Given the description of an element on the screen output the (x, y) to click on. 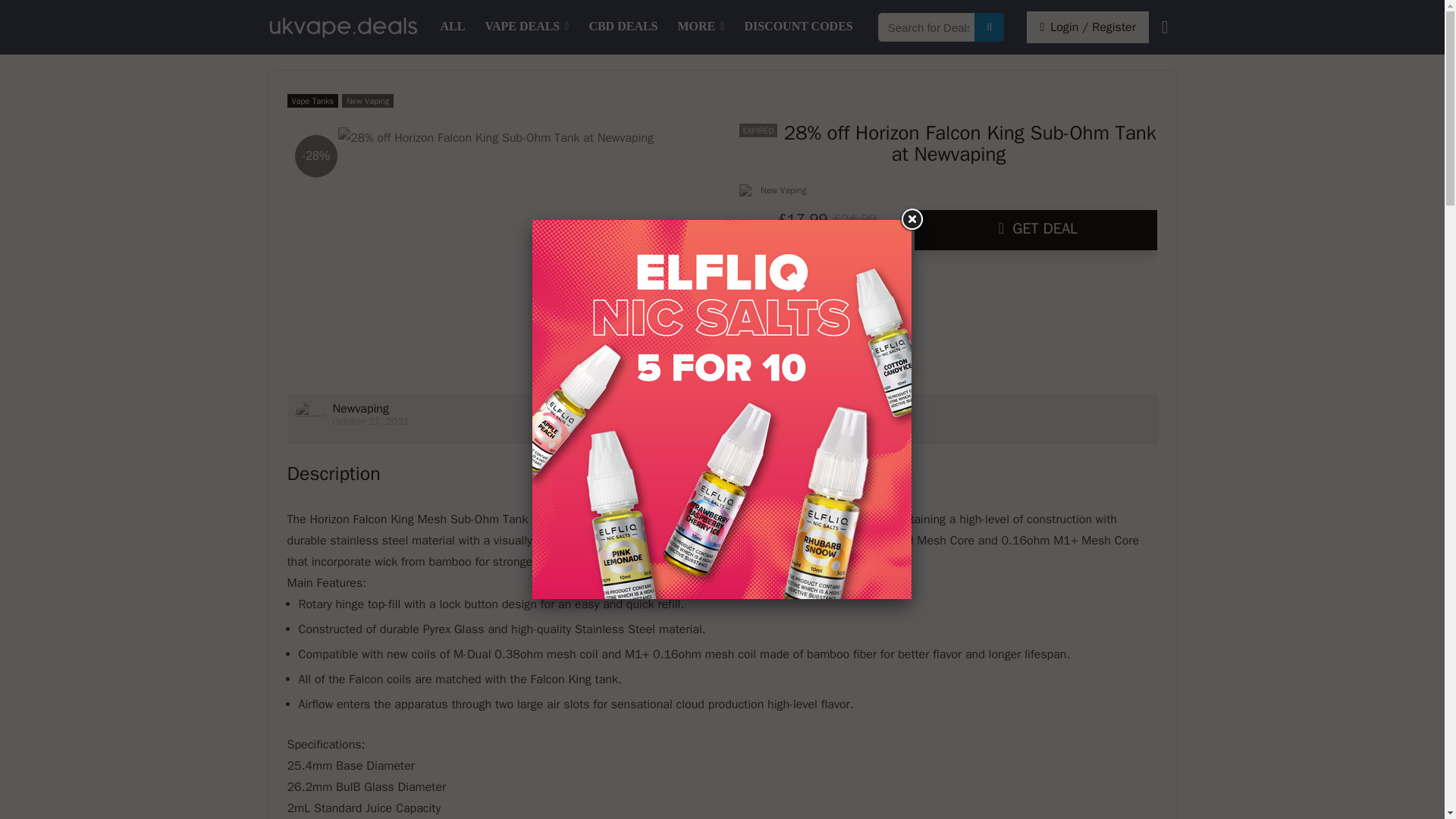
ALL (453, 27)
DISCOUNT CODES (797, 27)
New Vaping (367, 100)
VAPE DEALS (526, 27)
GET DEAL (1035, 229)
Vape Deals (526, 27)
View all posts in Vape Tanks (311, 100)
UK Vape Deals  (453, 27)
Newvaping (359, 408)
MORE (701, 27)
CBD Deals UK (622, 27)
View all posts in New Vaping (367, 100)
CBD DEALS (622, 27)
Vape Tanks (311, 100)
